Given the description of an element on the screen output the (x, y) to click on. 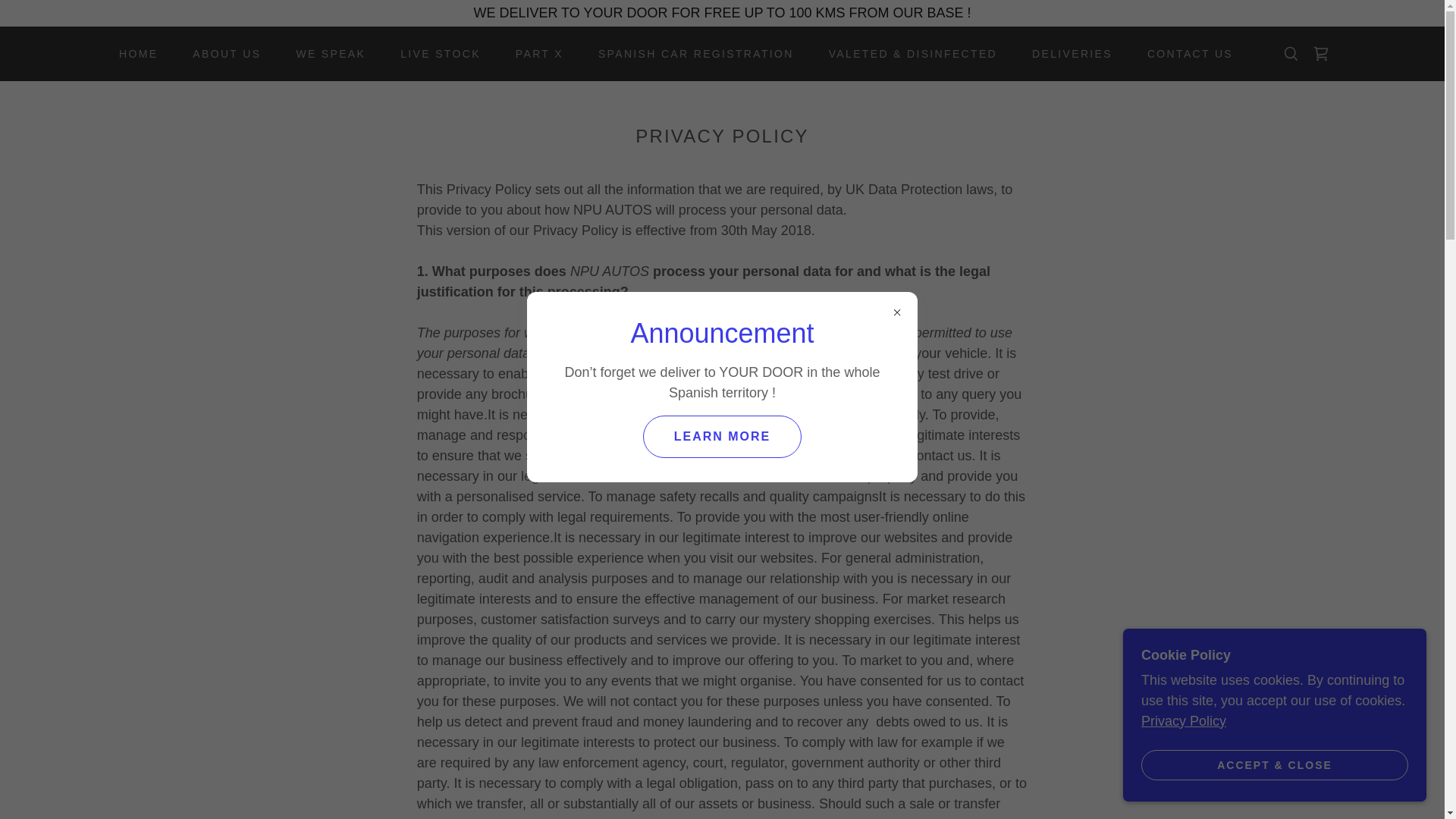
CONTACT US (1184, 53)
SPANISH CAR REGISTRATION (690, 53)
LIVE STOCK (434, 53)
DELIVERIES (1066, 53)
ABOUT US (220, 53)
PART X (533, 53)
WE SPEAK (325, 53)
HOME (132, 53)
